Given the description of an element on the screen output the (x, y) to click on. 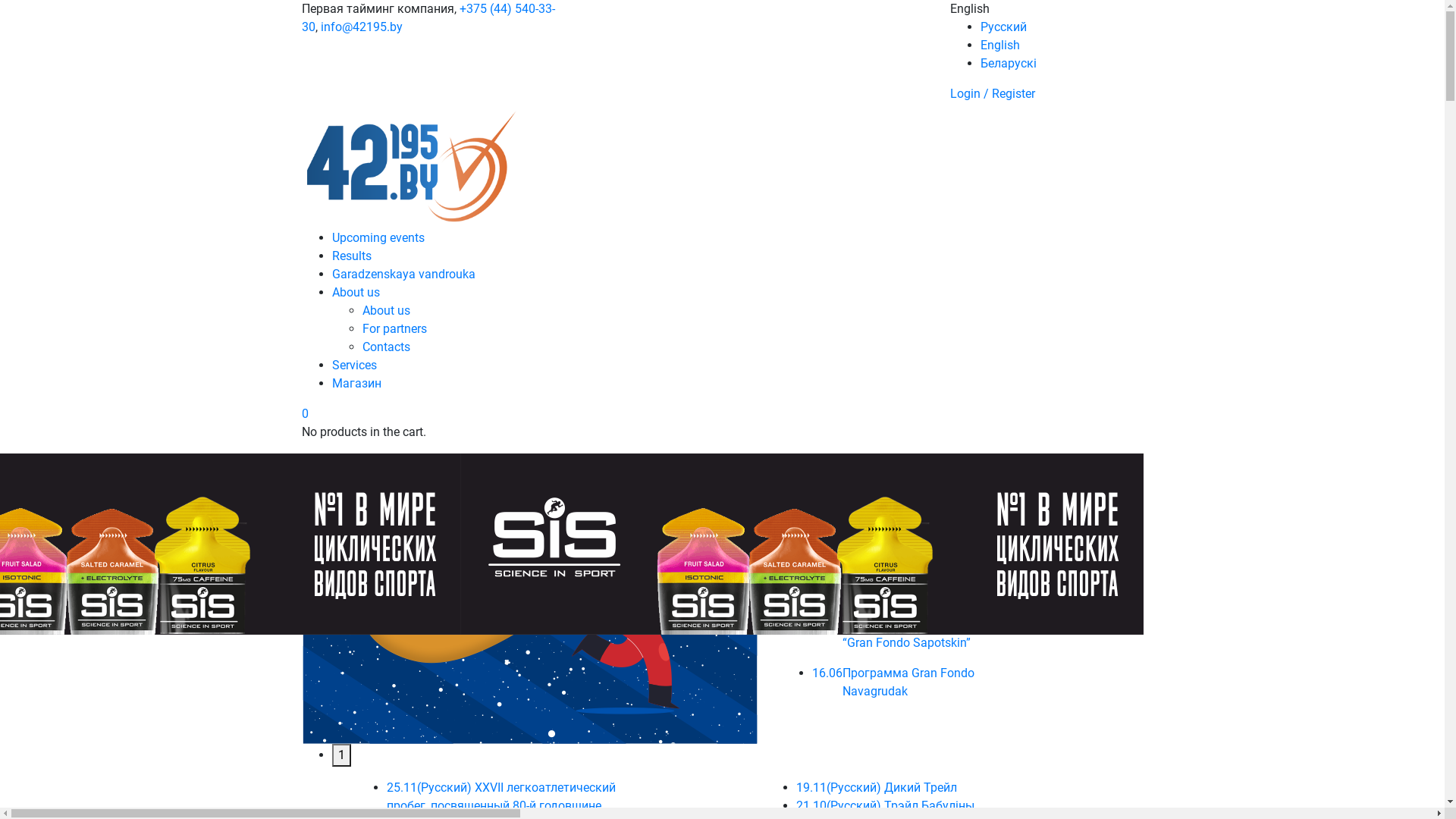
Services Element type: text (354, 364)
Results Element type: text (351, 255)
For partners Element type: text (394, 328)
English Element type: text (999, 44)
+375 (44) 540-33-30 Element type: text (428, 17)
1 Element type: text (341, 754)
About us Element type: text (386, 310)
info@42195.by Element type: text (360, 26)
Upcoming events Element type: text (378, 237)
Garadzenskaya vandrouka Element type: text (403, 273)
0 Element type: text (304, 413)
Login / Register Element type: text (991, 93)
About us Element type: text (355, 292)
